Given the description of an element on the screen output the (x, y) to click on. 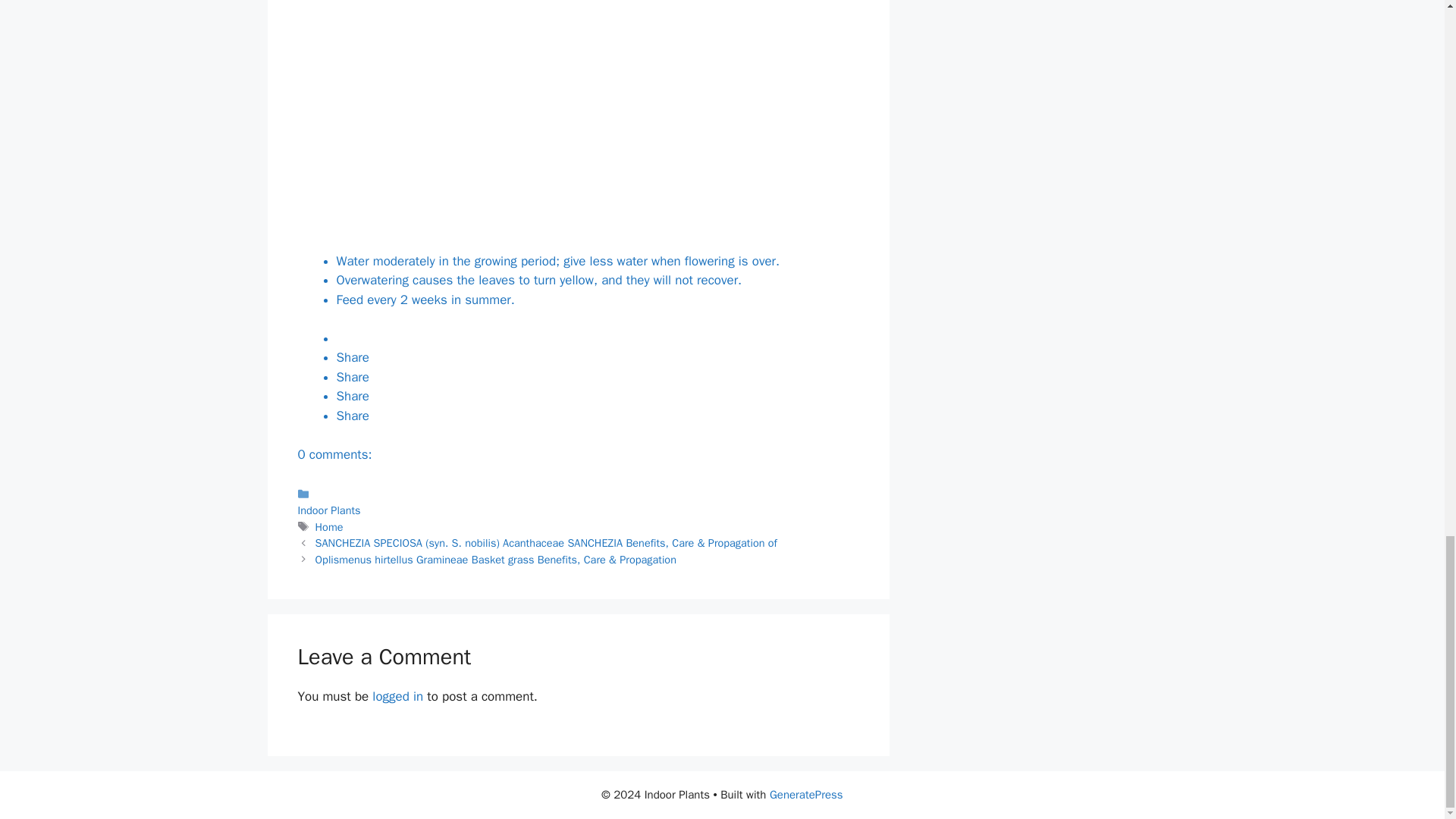
Home (329, 526)
logged in (397, 696)
GeneratePress (806, 794)
Indoor Plants (328, 509)
0 comments: (334, 454)
Categories (578, 501)
